Given the description of an element on the screen output the (x, y) to click on. 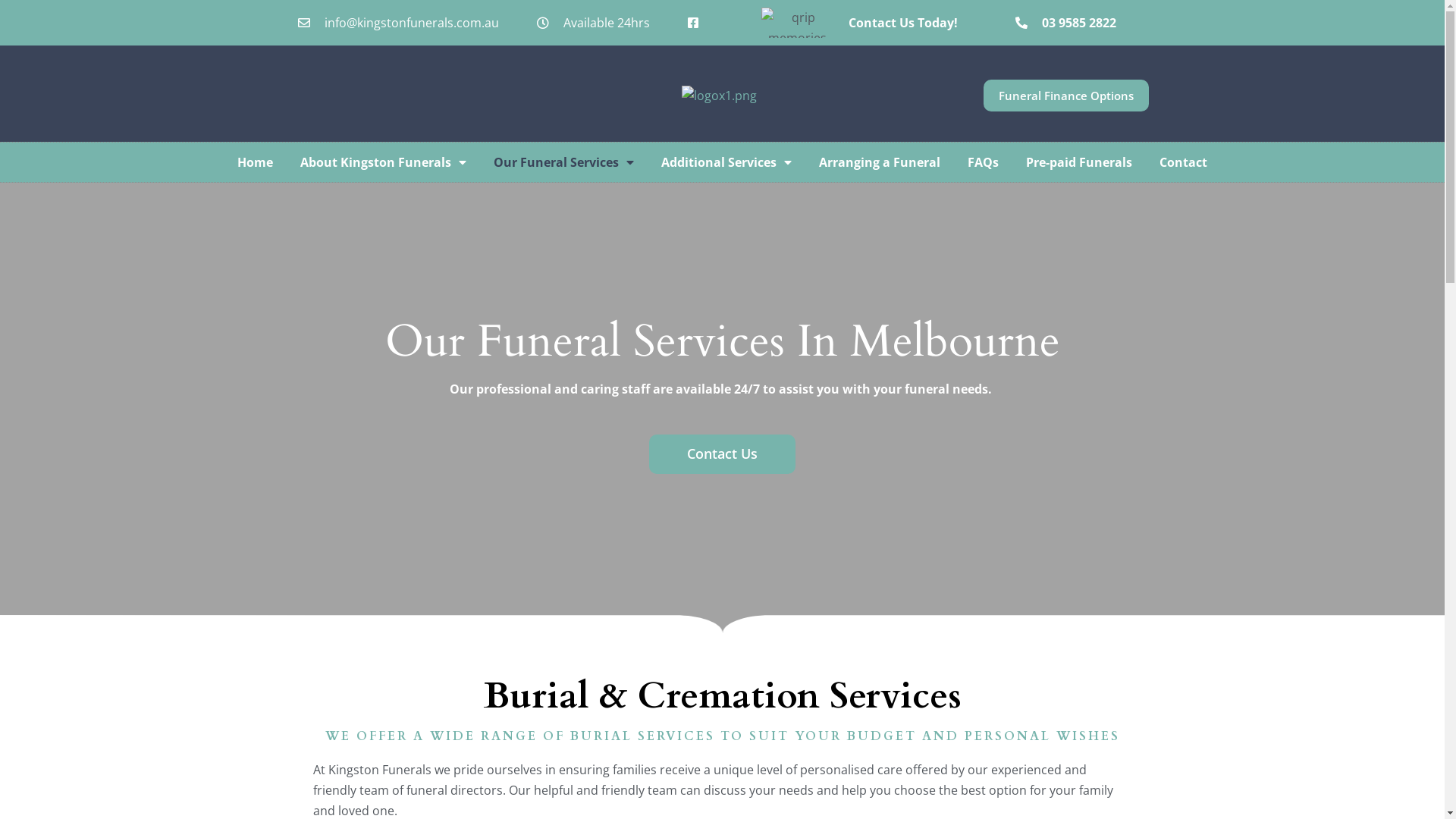
Pre-paid Funerals Element type: text (1078, 162)
Additional Services Element type: text (726, 162)
info@kingstonfunerals.com.au Element type: text (397, 22)
FAQs Element type: text (982, 162)
Contact Us Element type: text (722, 453)
Home Element type: text (254, 162)
Contact Us Today! Element type: text (902, 22)
About Kingston Funerals Element type: text (383, 162)
Our Funeral Services Element type: text (563, 162)
Arranging a Funeral Element type: text (879, 162)
03 9585 2822 Element type: text (1065, 22)
Funeral Finance Options Element type: text (1065, 95)
logox1.png Element type: hover (718, 95)
Contact Element type: text (1182, 162)
